Given the description of an element on the screen output the (x, y) to click on. 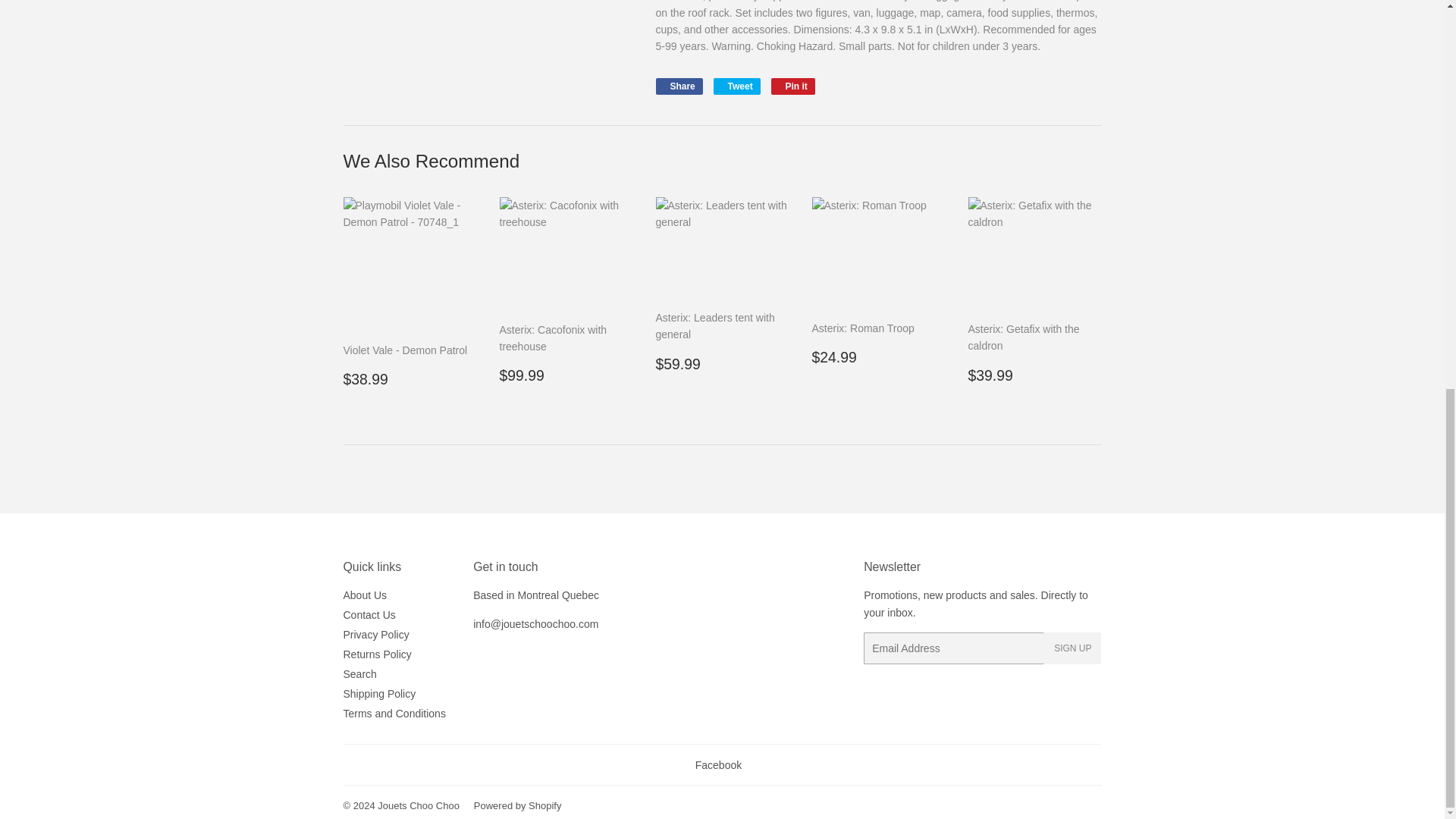
Share on Facebook (678, 86)
Pin on Pinterest (793, 86)
Jouets Choo Choo on Facebook (718, 765)
Tweet on Twitter (736, 86)
